Given the description of an element on the screen output the (x, y) to click on. 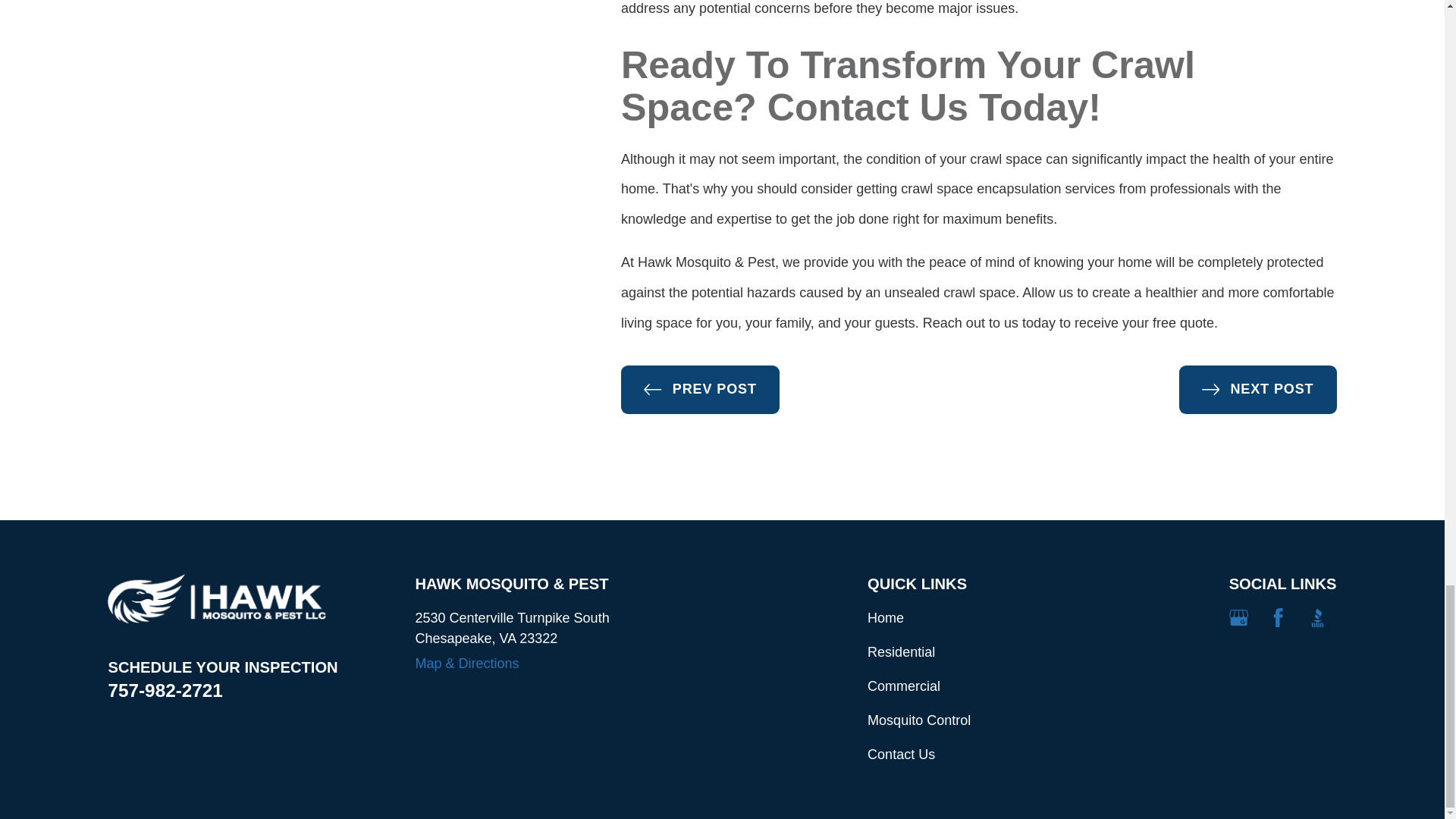
Home (216, 598)
Facebook (1277, 617)
BBB.org (1316, 617)
Google Business Profile (1237, 617)
